Given the description of an element on the screen output the (x, y) to click on. 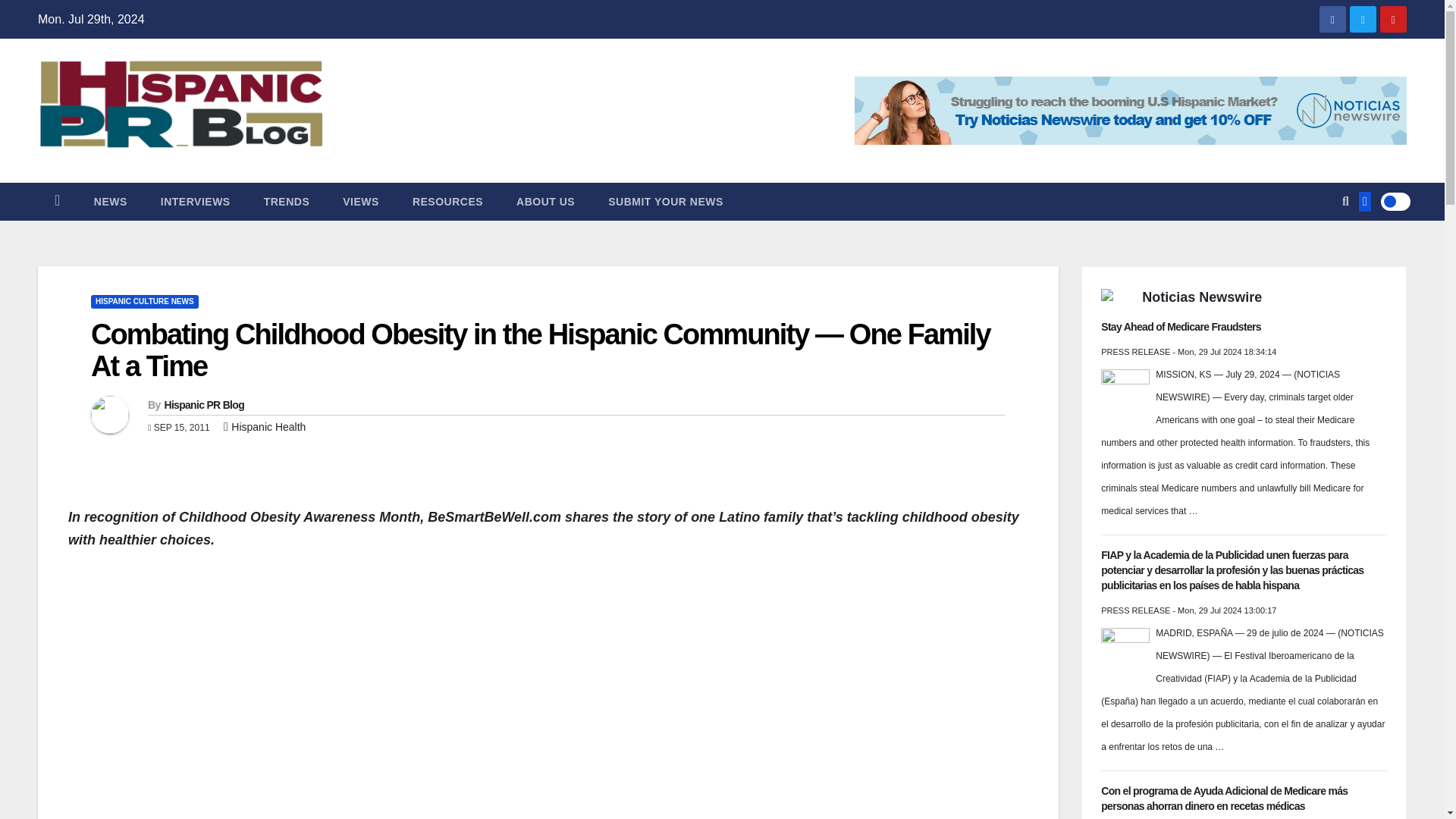
INTERVIEWS (195, 201)
Interviews (195, 201)
TRENDS (286, 201)
VIEWS (361, 201)
RESOURCES (447, 201)
News (110, 201)
NEWS (110, 201)
Home (57, 201)
Trends (286, 201)
